Given the description of an element on the screen output the (x, y) to click on. 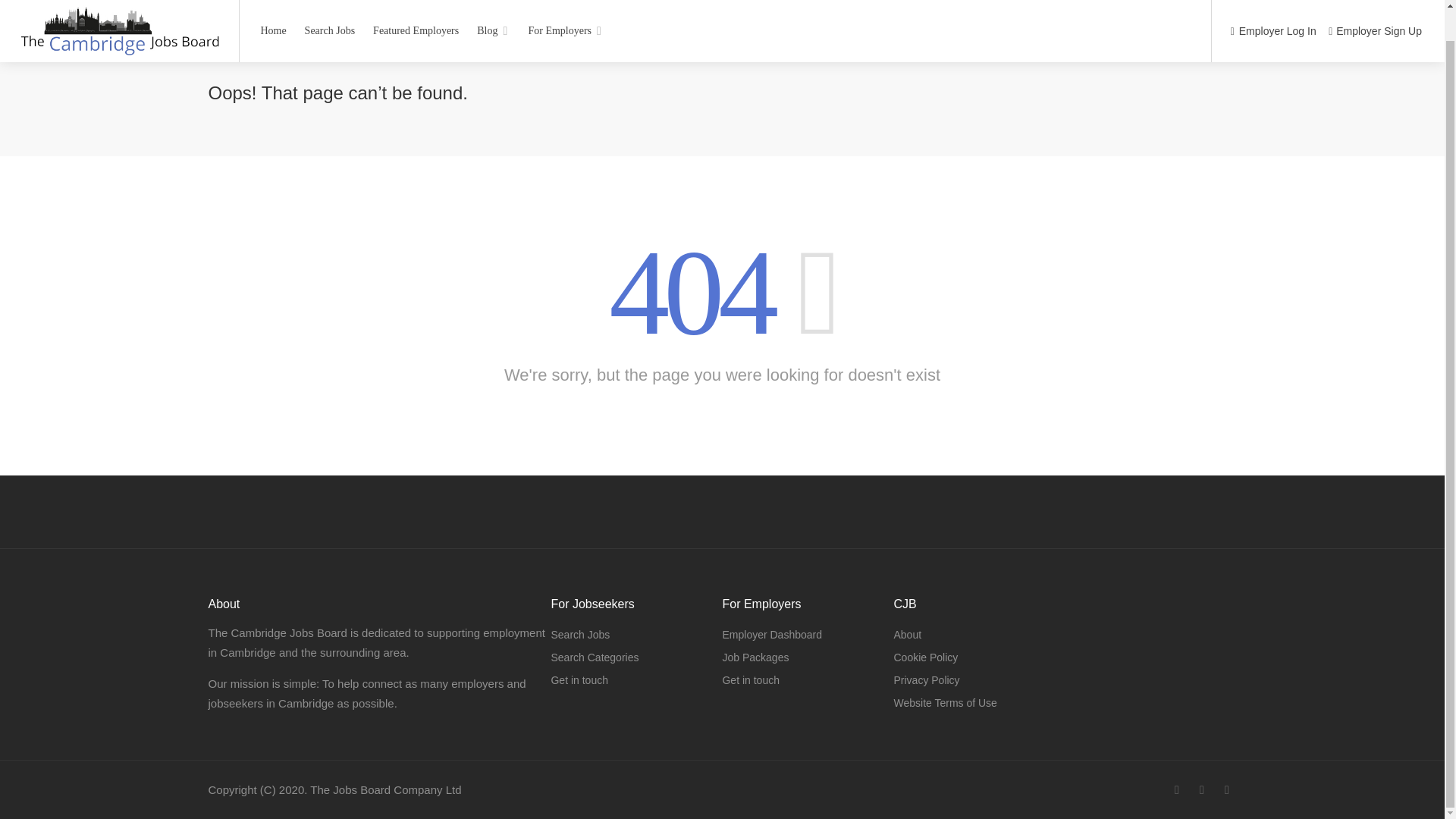
Employer Log In (1273, 4)
Cookie Policy (925, 657)
Employer Dashboard (772, 634)
Privacy Policy (926, 680)
Blog (493, 6)
Employer Sign Up (1374, 4)
About (907, 634)
Home (272, 6)
Search Jobs (330, 6)
linkedin (1201, 789)
The Cambridge Jobs Board (118, 15)
Featured Employers (416, 6)
Search Categories (594, 657)
Job Packages (755, 657)
facebook (1176, 789)
